Given the description of an element on the screen output the (x, y) to click on. 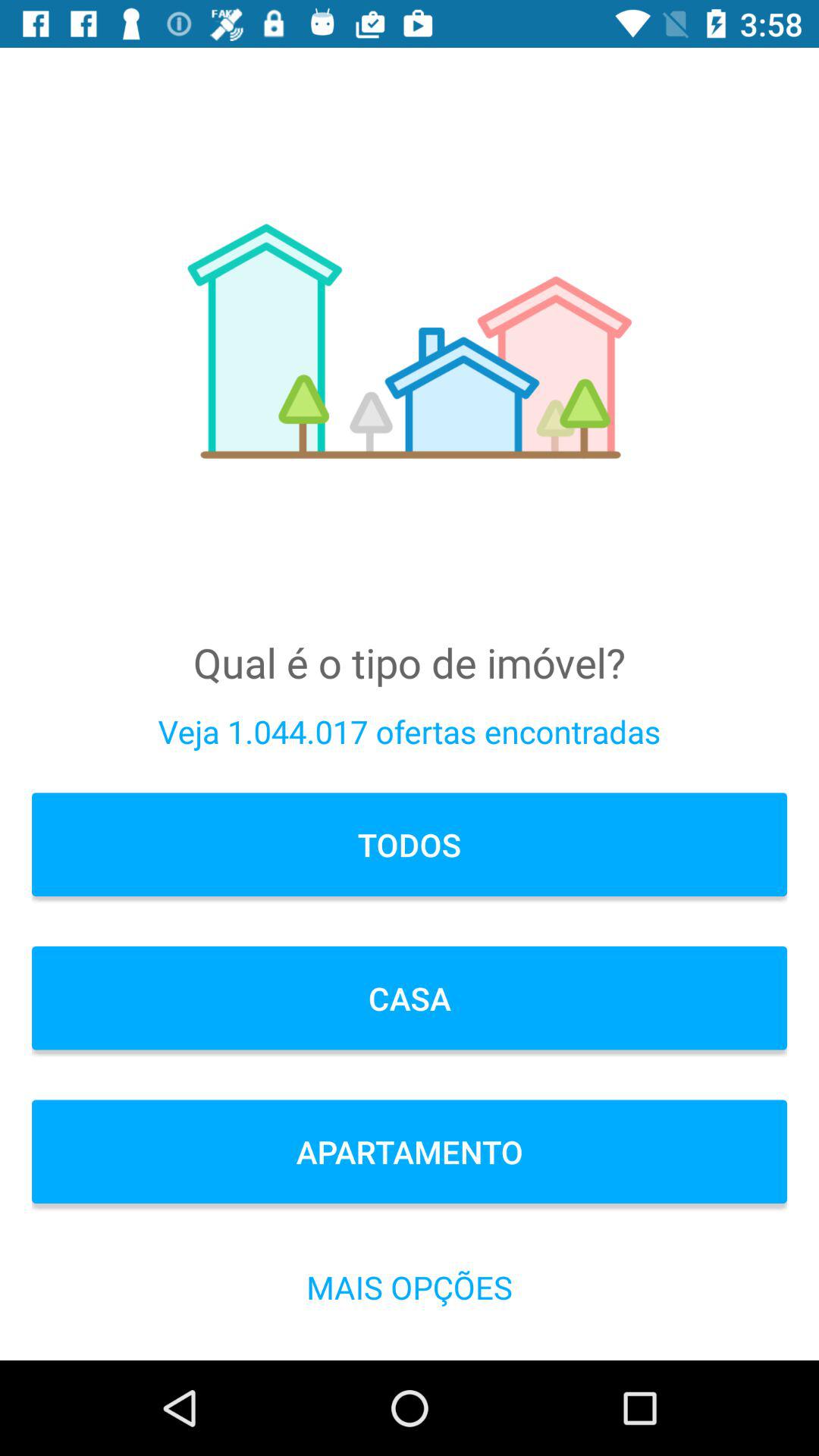
flip until the casa item (409, 997)
